Given the description of an element on the screen output the (x, y) to click on. 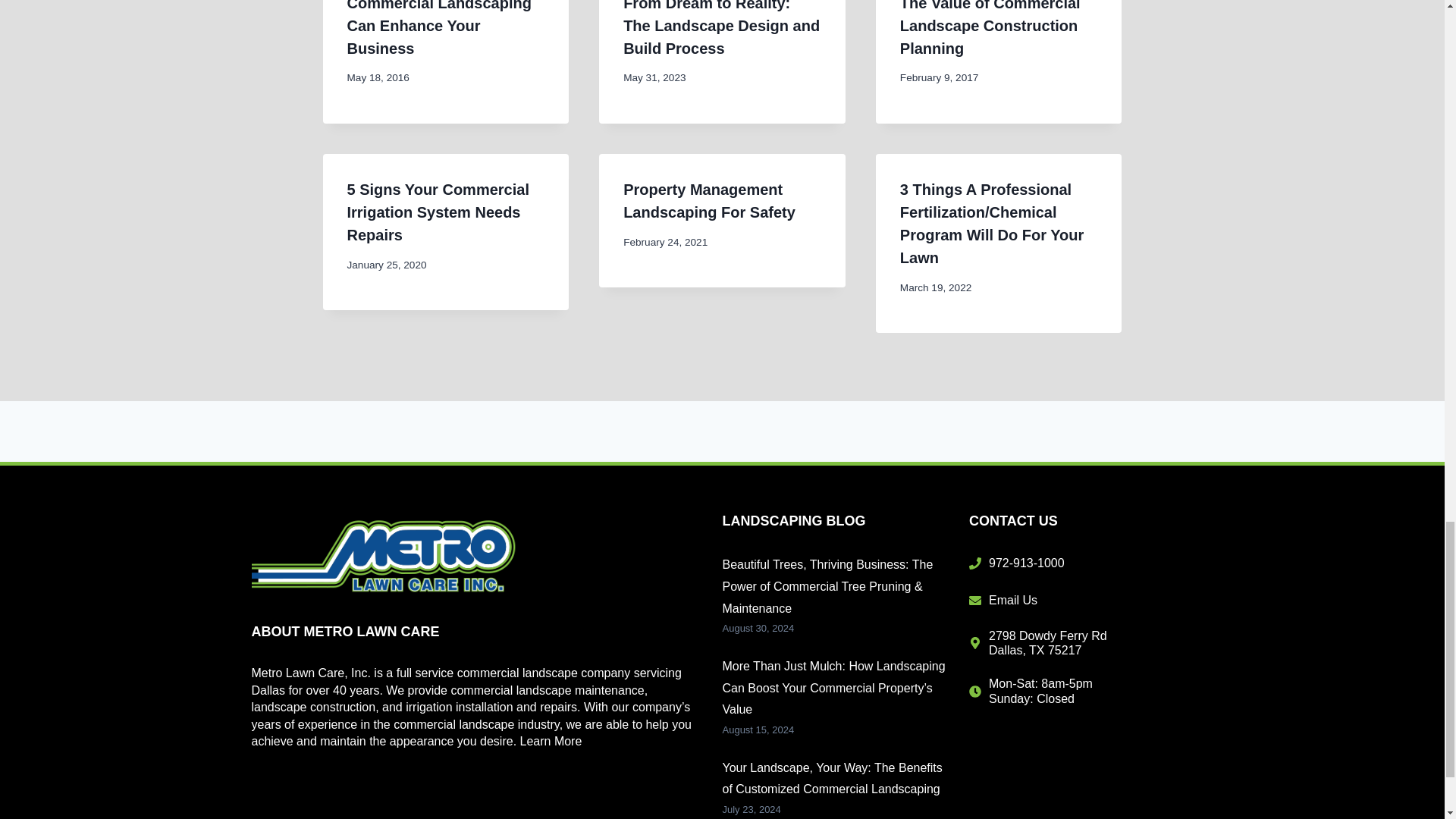
5 Signs Your Commercial Irrigation System Needs Repairs (438, 211)
Commercial Landscaping Can Enhance Your Business (439, 28)
The Value of Commercial Landscape Construction Planning (989, 28)
Property Management Landscaping For Safety (708, 200)
